Given the description of an element on the screen output the (x, y) to click on. 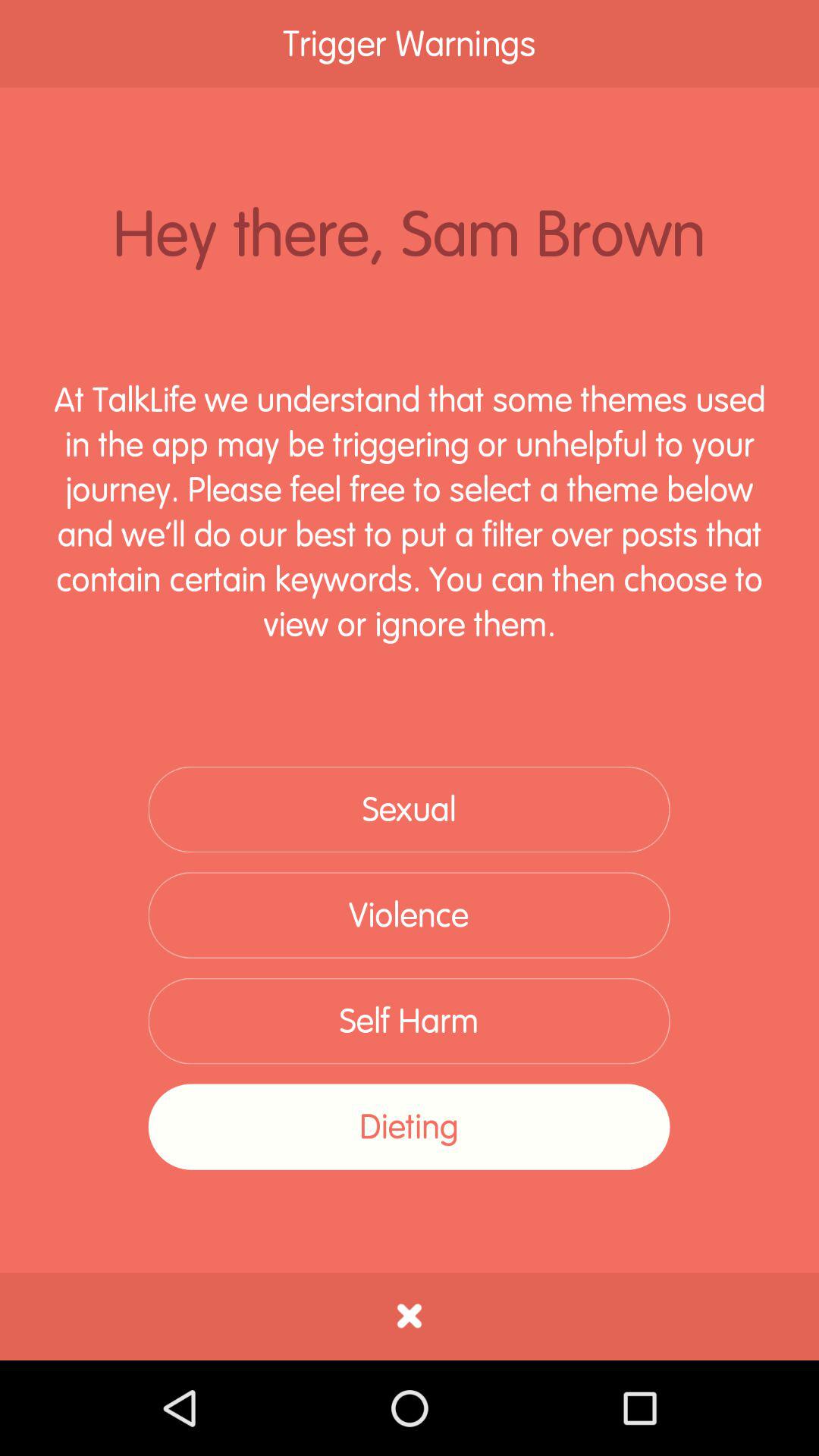
jump to the violence item (408, 915)
